Given the description of an element on the screen output the (x, y) to click on. 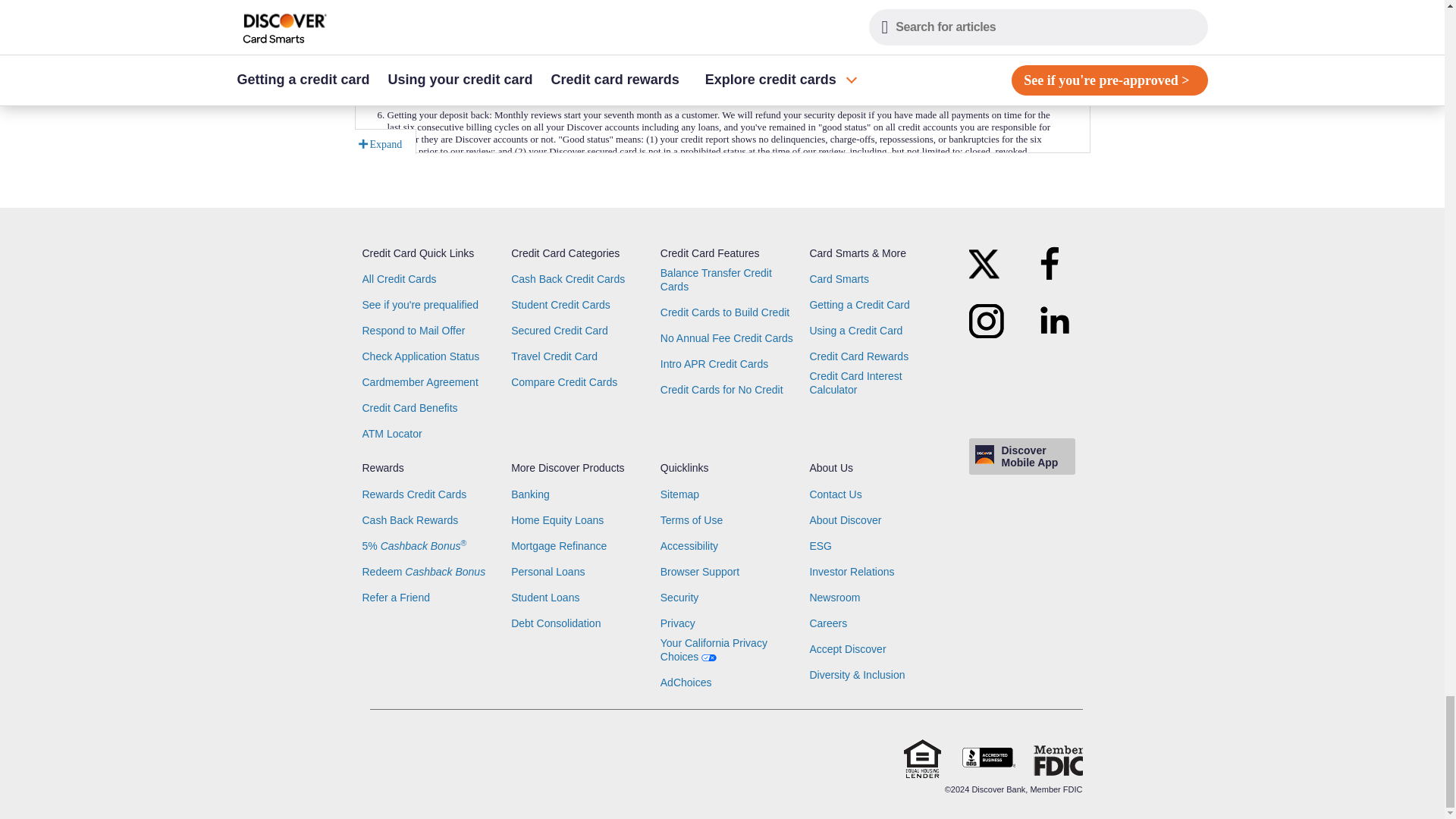
Accept Discover (847, 649)
Investor Relations (851, 571)
Careers (828, 622)
